Given the description of an element on the screen output the (x, y) to click on. 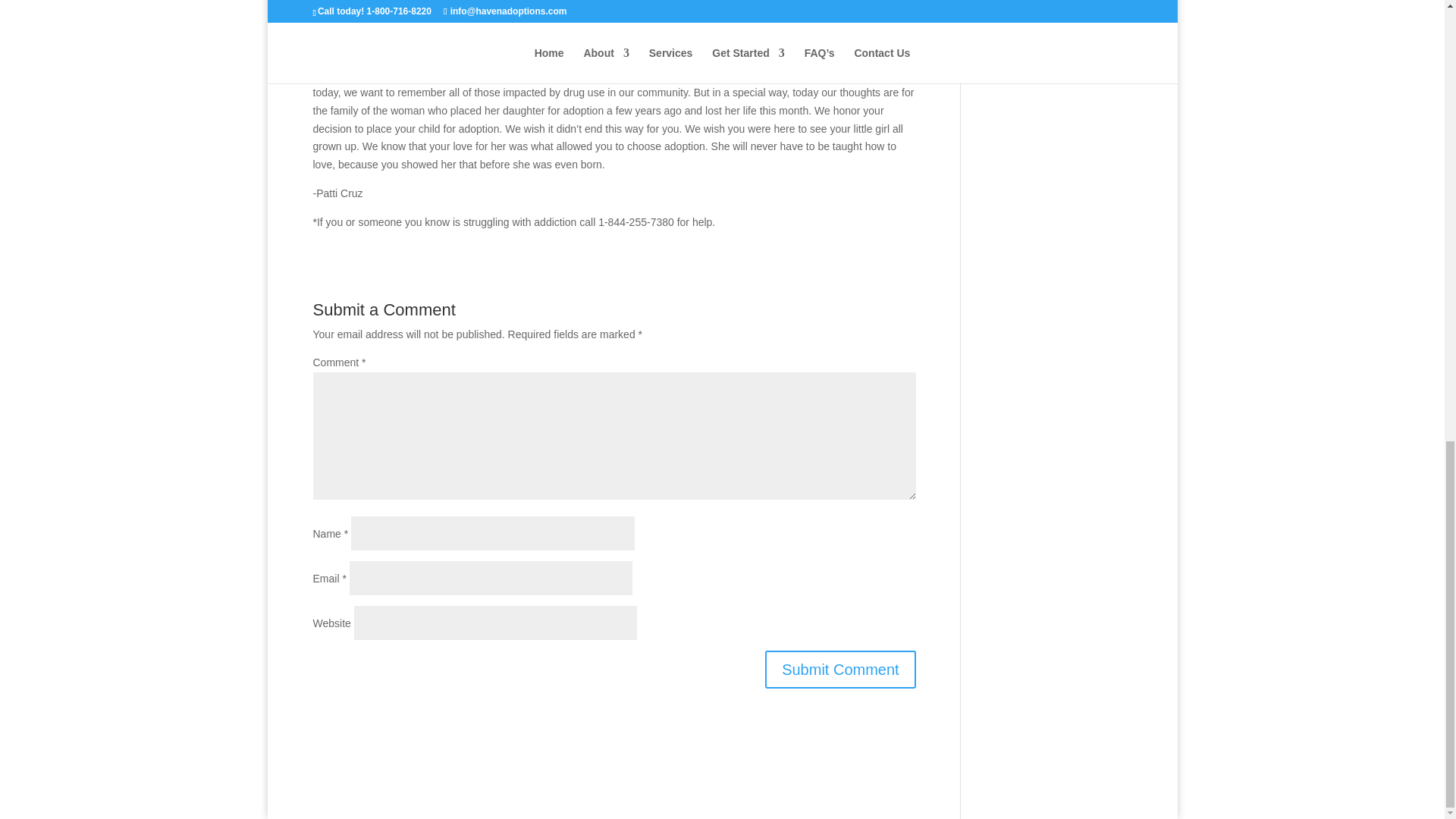
Submit Comment (840, 669)
Submit Comment (840, 669)
